Given the description of an element on the screen output the (x, y) to click on. 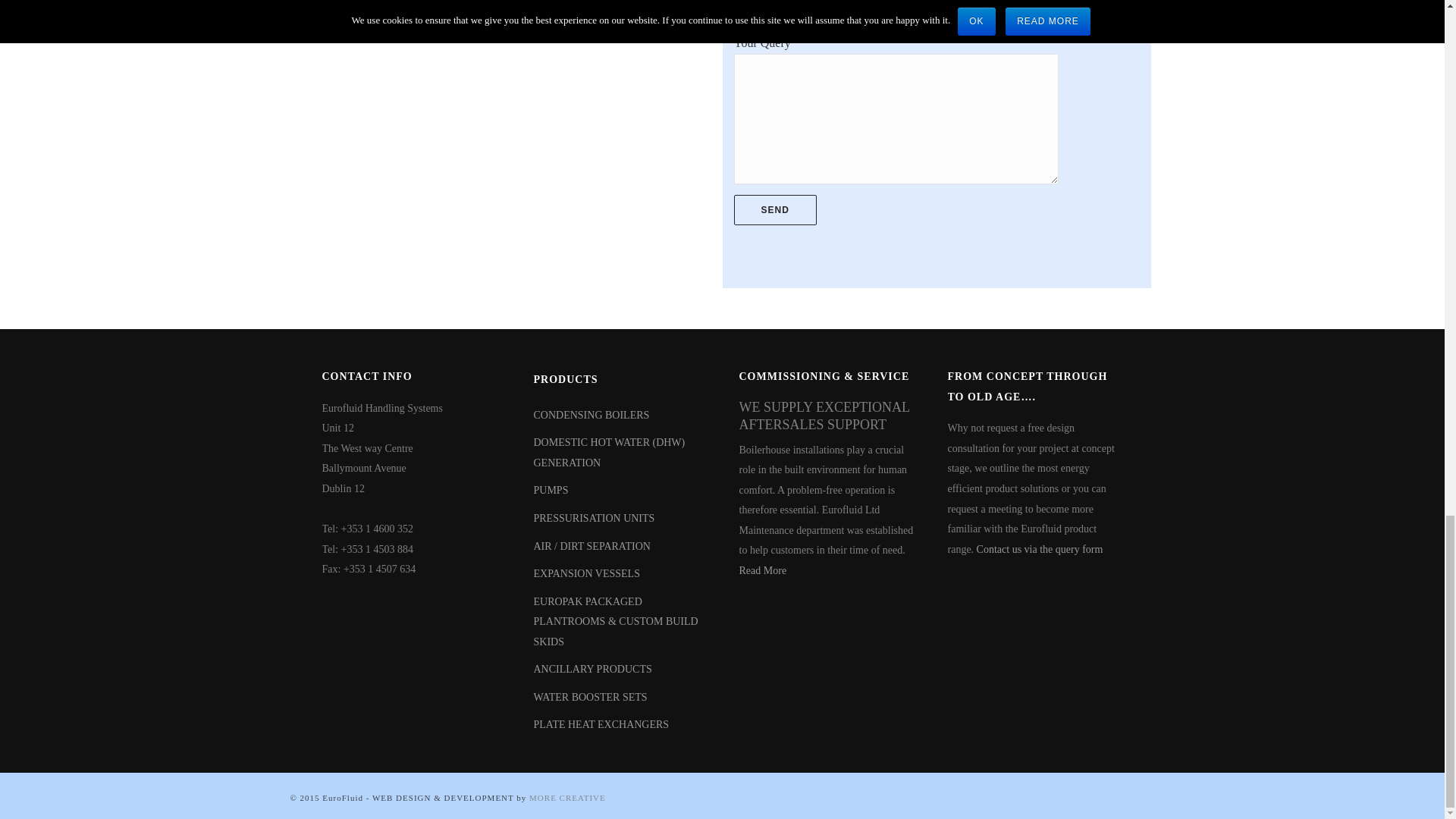
Send (774, 209)
